Given the description of an element on the screen output the (x, y) to click on. 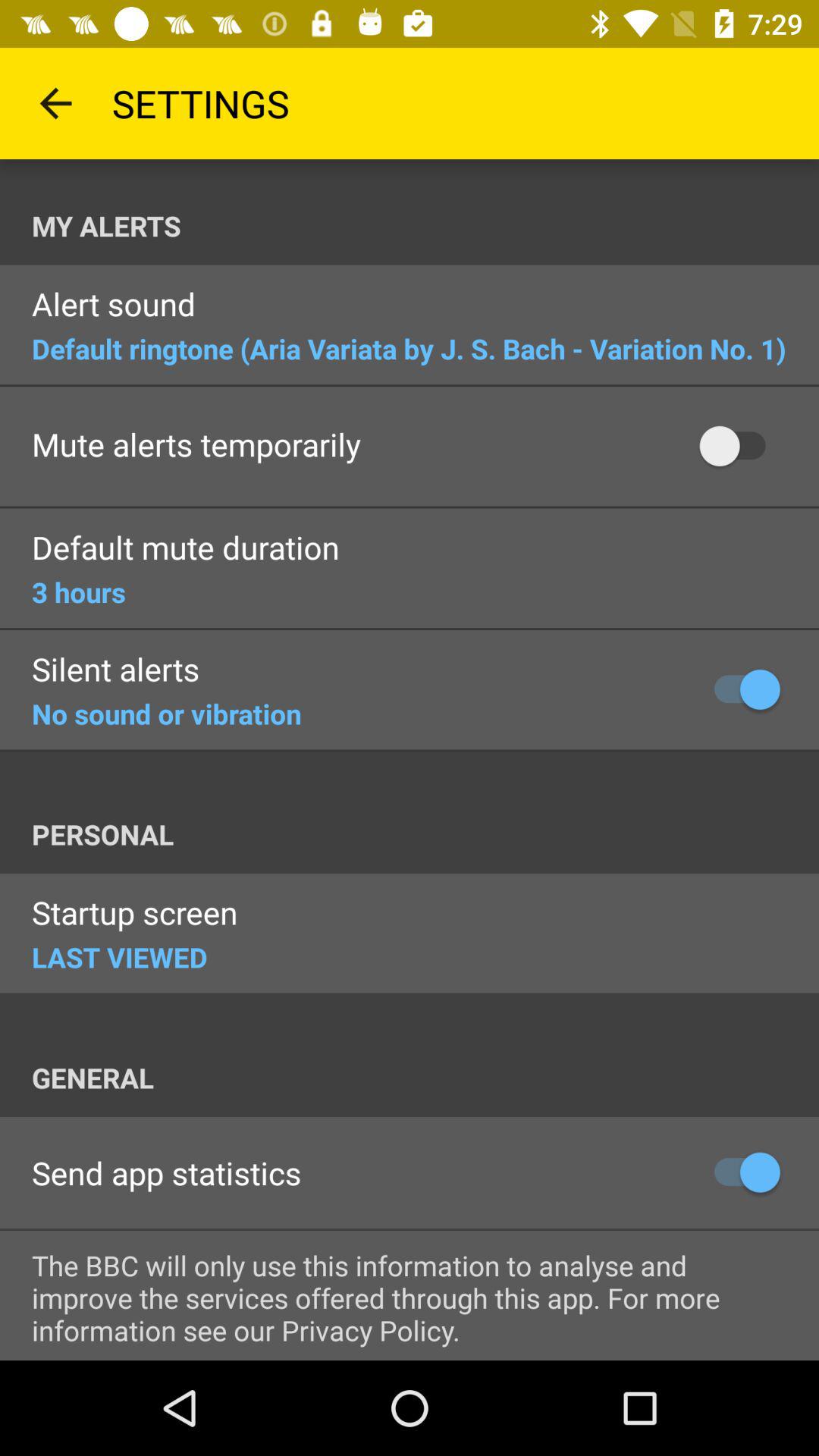
select item below startup screen (119, 956)
